Given the description of an element on the screen output the (x, y) to click on. 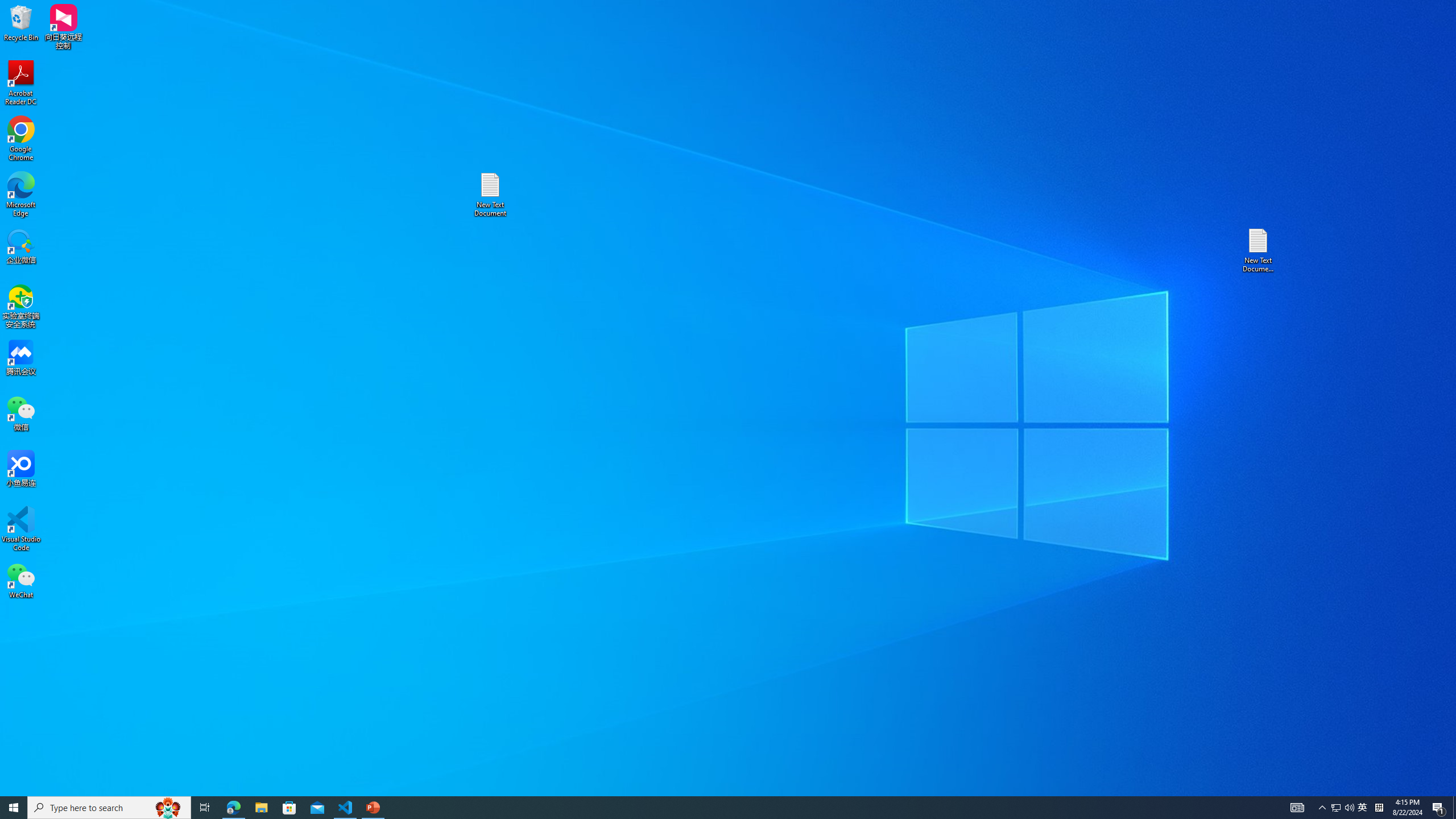
Action (439, 58)
Power BI (358, 58)
